Given the description of an element on the screen output the (x, y) to click on. 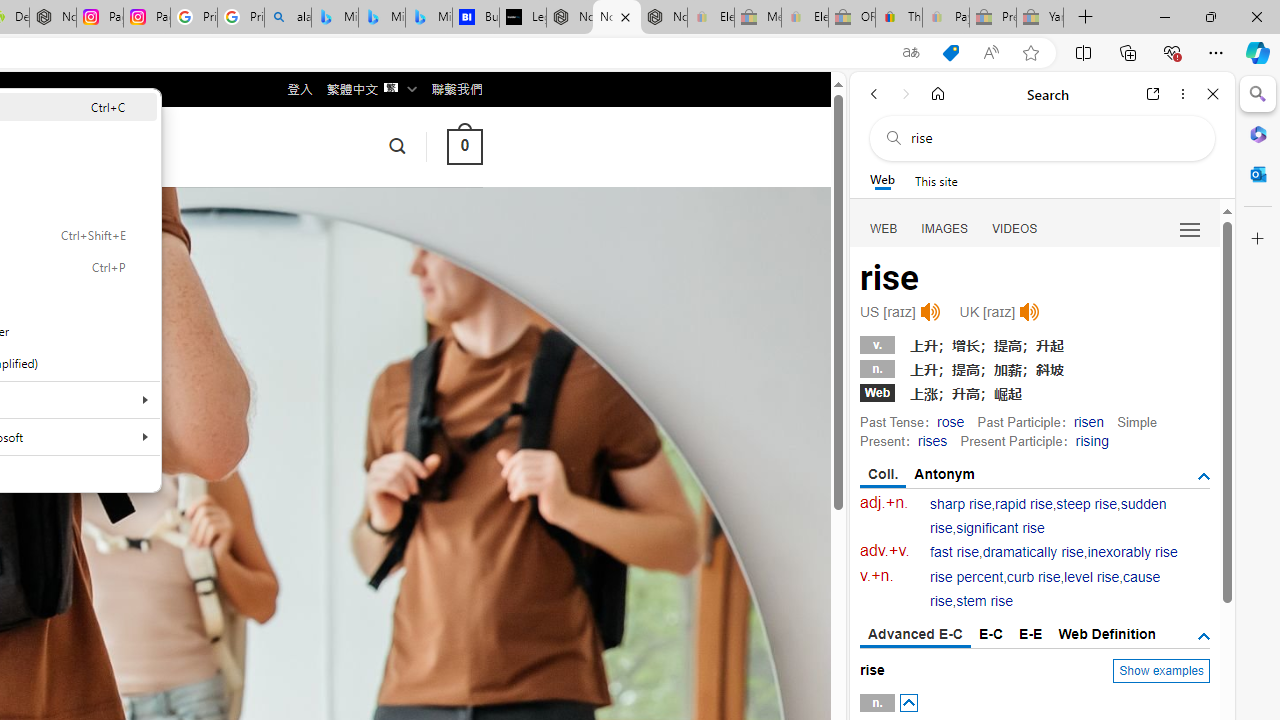
rise percent (966, 577)
curb rise (1033, 577)
  0   (464, 146)
Show translate options (910, 53)
sharp rise (961, 503)
Search Filter, VIDEOS (1015, 228)
Antonym (945, 473)
Search Filter, WEB (884, 228)
